Given the description of an element on the screen output the (x, y) to click on. 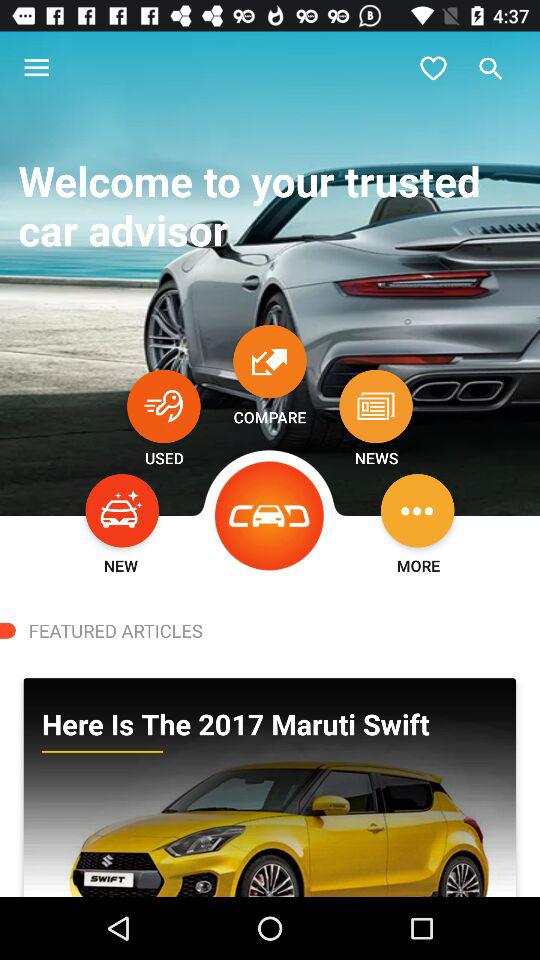
go to search options (491, 68)
